Given the description of an element on the screen output the (x, y) to click on. 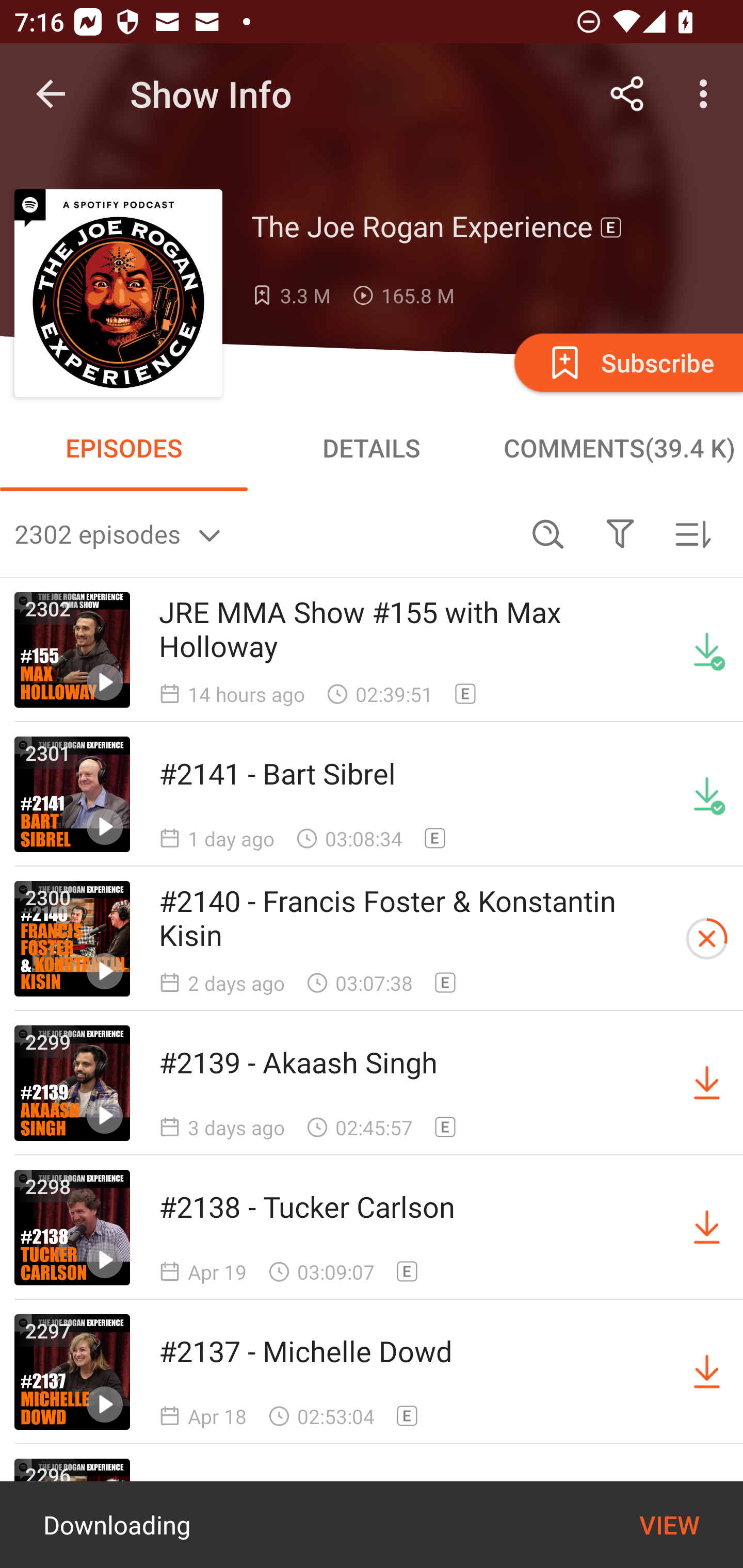
Navigate up (50, 93)
Share (626, 93)
More options (706, 93)
Subscribe (627, 361)
EPISODES (123, 447)
DETAILS (371, 447)
COMMENTS(39.4 K) (619, 447)
2302 episodes  (262, 533)
 Search (547, 533)
 (619, 533)
 Sorted by newest first (692, 533)
Downloaded (706, 649)
Downloaded (706, 793)
Cancel Downloading (706, 939)
Download (706, 1083)
Download (706, 1227)
Download (706, 1371)
Downloading VIEW (371, 1524)
VIEW (669, 1524)
